Given the description of an element on the screen output the (x, y) to click on. 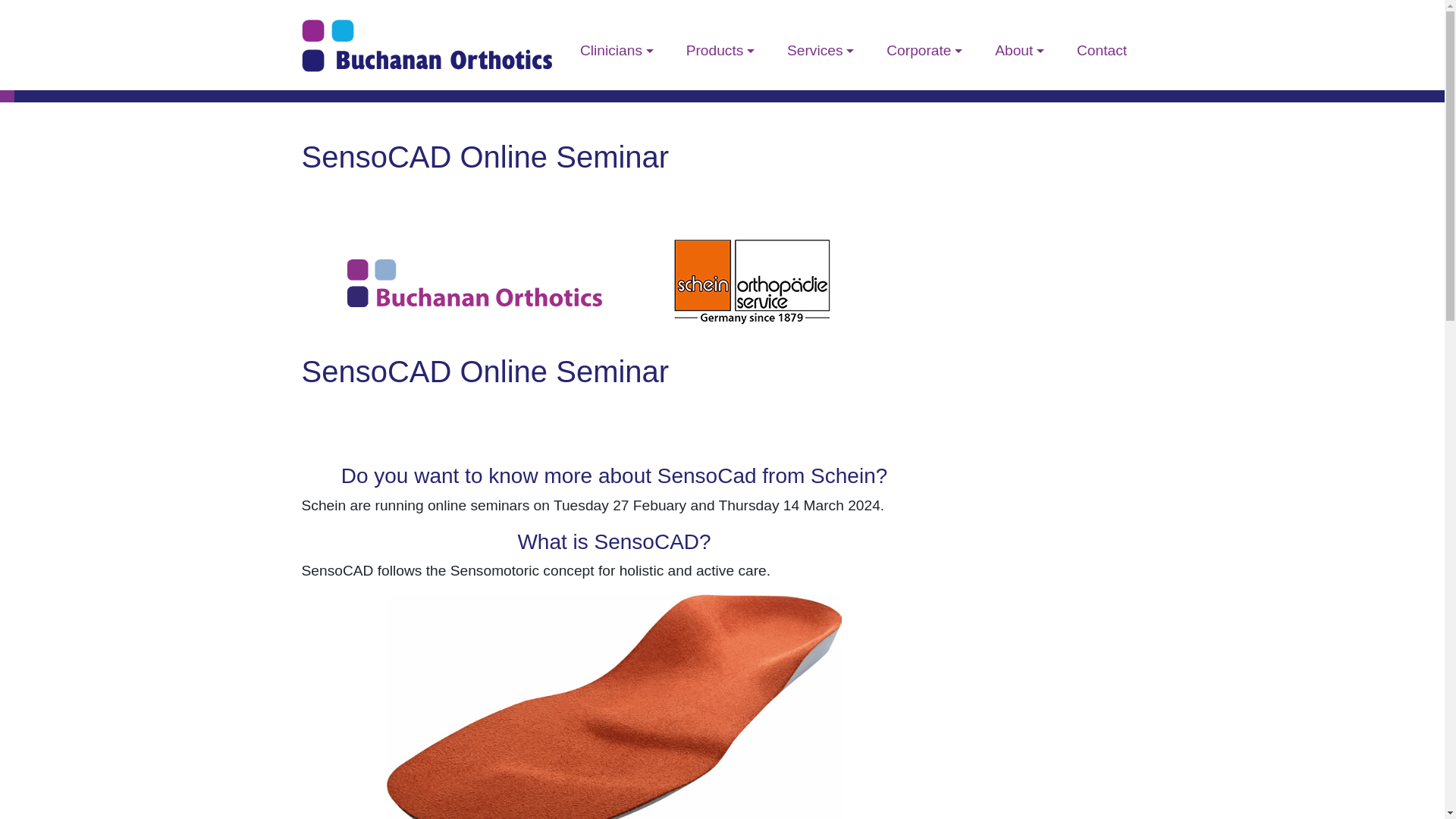
Services (820, 45)
Clinicians (616, 45)
Products (719, 45)
